Given the description of an element on the screen output the (x, y) to click on. 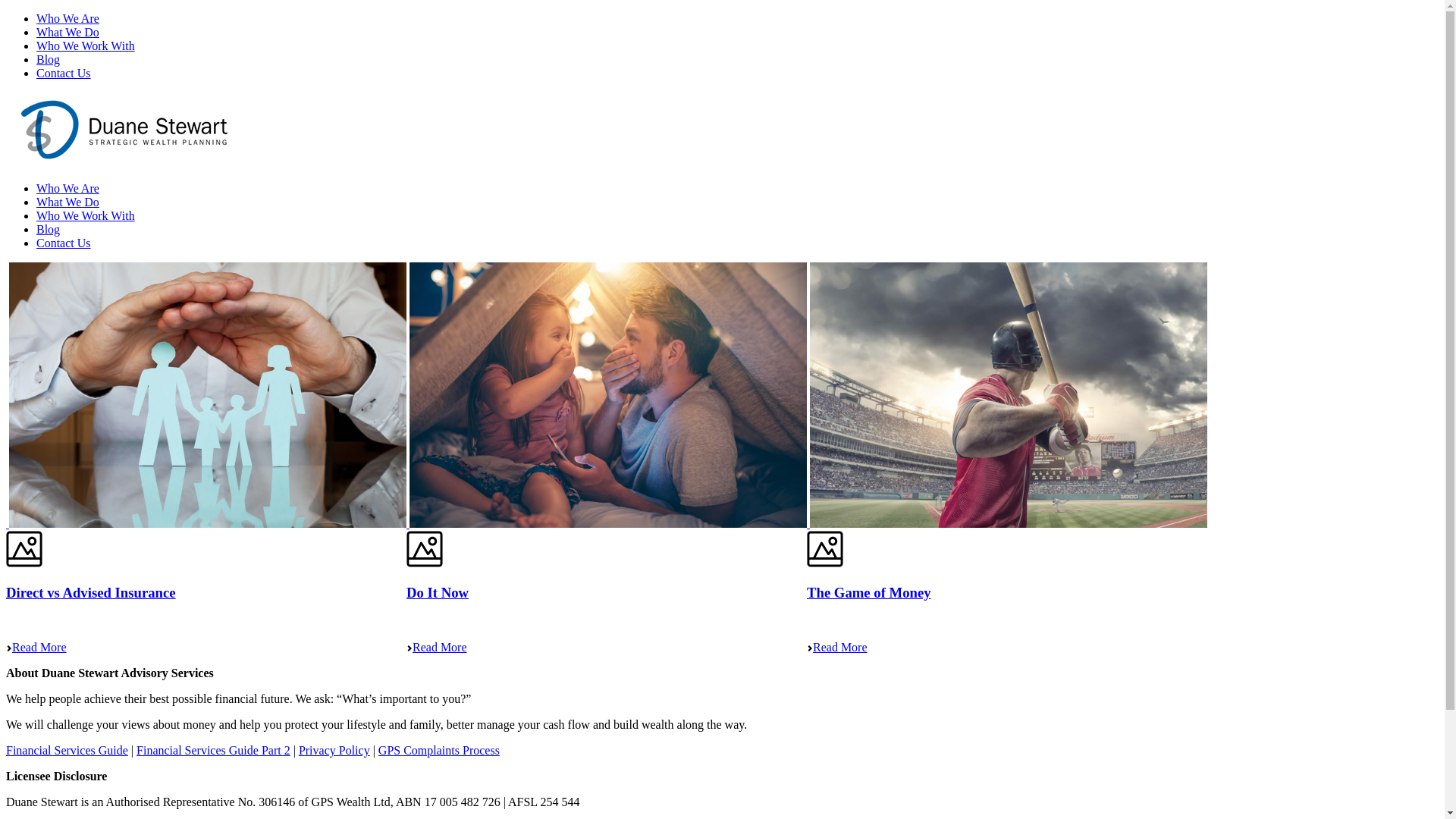
Who We Work With Element type: text (85, 215)
What We Do Element type: text (67, 31)
Who We Work With Element type: text (85, 45)
Blog Element type: text (47, 59)
GPS Complaints Process Element type: text (438, 749)
Direct vs Advised Insurance Element type: text (90, 592)
Financial Services Guide Part 2 Element type: text (213, 749)
The Game of Money Element type: hover (1008, 394)
  Element type: text (807, 523)
Blog Element type: text (47, 228)
Do It Now Element type: hover (607, 394)
The Game of Money Element type: text (868, 592)
Read More Element type: text (436, 646)
Contact Us Element type: text (63, 72)
Read More Element type: text (36, 646)
The Game of Money Element type: hover (807, 523)
  Element type: text (407, 523)
Privacy Policy Element type: text (334, 749)
Direct vs Advised Insurance Element type: hover (207, 394)
  Element type: text (7, 523)
Direct vs Advised Insurance Element type: hover (7, 523)
Do It Now Element type: text (437, 592)
Contact Us Element type: text (63, 242)
Who We Are Element type: text (67, 18)
Do It Now Element type: hover (407, 523)
Read More Element type: text (836, 646)
Financial Services Guide Element type: text (67, 749)
Duane Stewart Advisory Services Element type: hover (124, 162)
Who We Are Element type: text (67, 188)
What We Do Element type: text (67, 201)
